Given the description of an element on the screen output the (x, y) to click on. 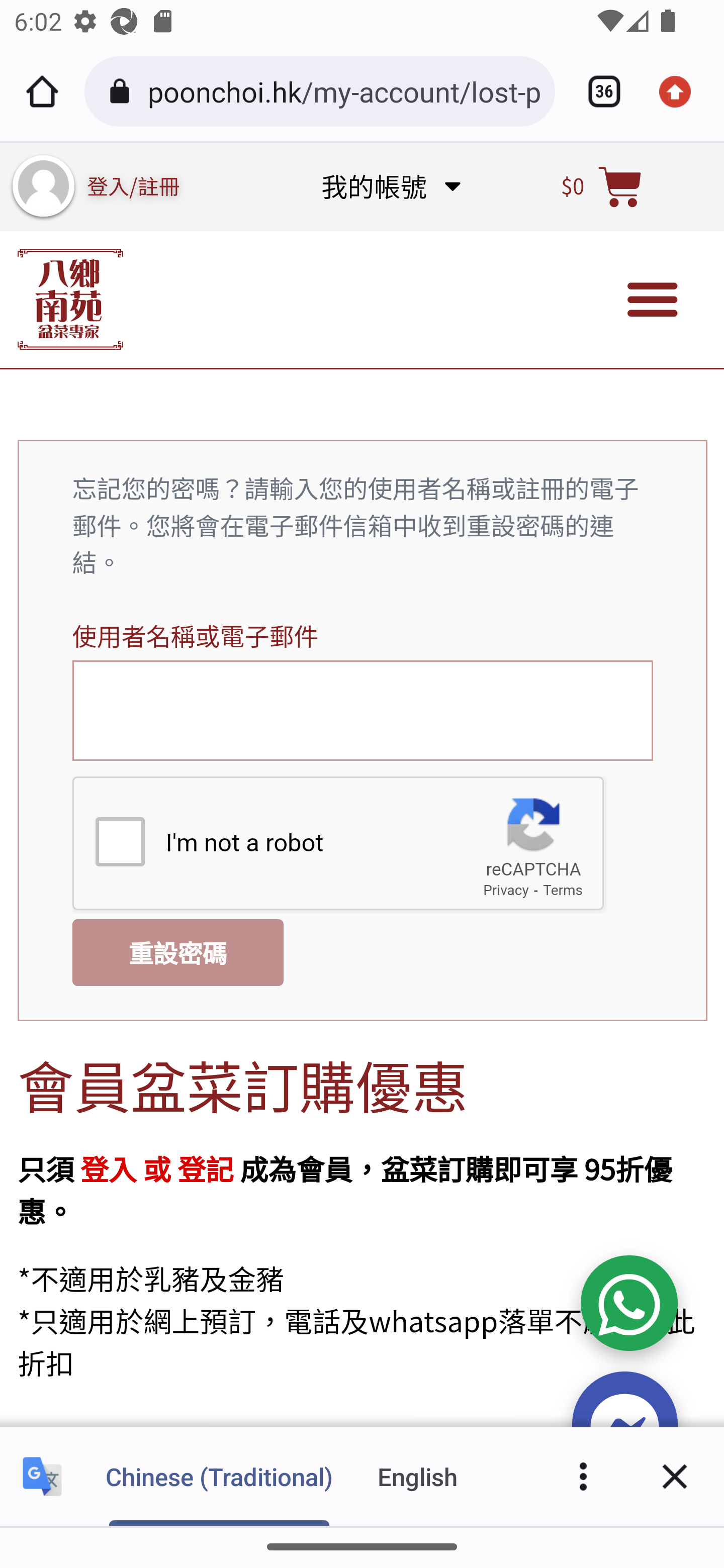
Home (42, 91)
Connection is secure (122, 91)
Switch or close tabs (597, 91)
Update available. More options (681, 91)
poonchoi.hk/my-account/lost-password/ (343, 90)
$0  購物籃 $ 0  (601, 186)
我的帳號  我的帳號  (390, 185)
my-account (43, 186)
登入/註冊 (133, 185)
www.poonchoi (70, 299)
選單切換 (652, 299)
I'm not a robot (119, 841)
Privacy (505, 891)
Terms (562, 891)
重設密碼 (177, 952)
登入 或 登記 (155, 1167)
English (417, 1475)
More options (582, 1475)
Close (674, 1475)
